Given the description of an element on the screen output the (x, y) to click on. 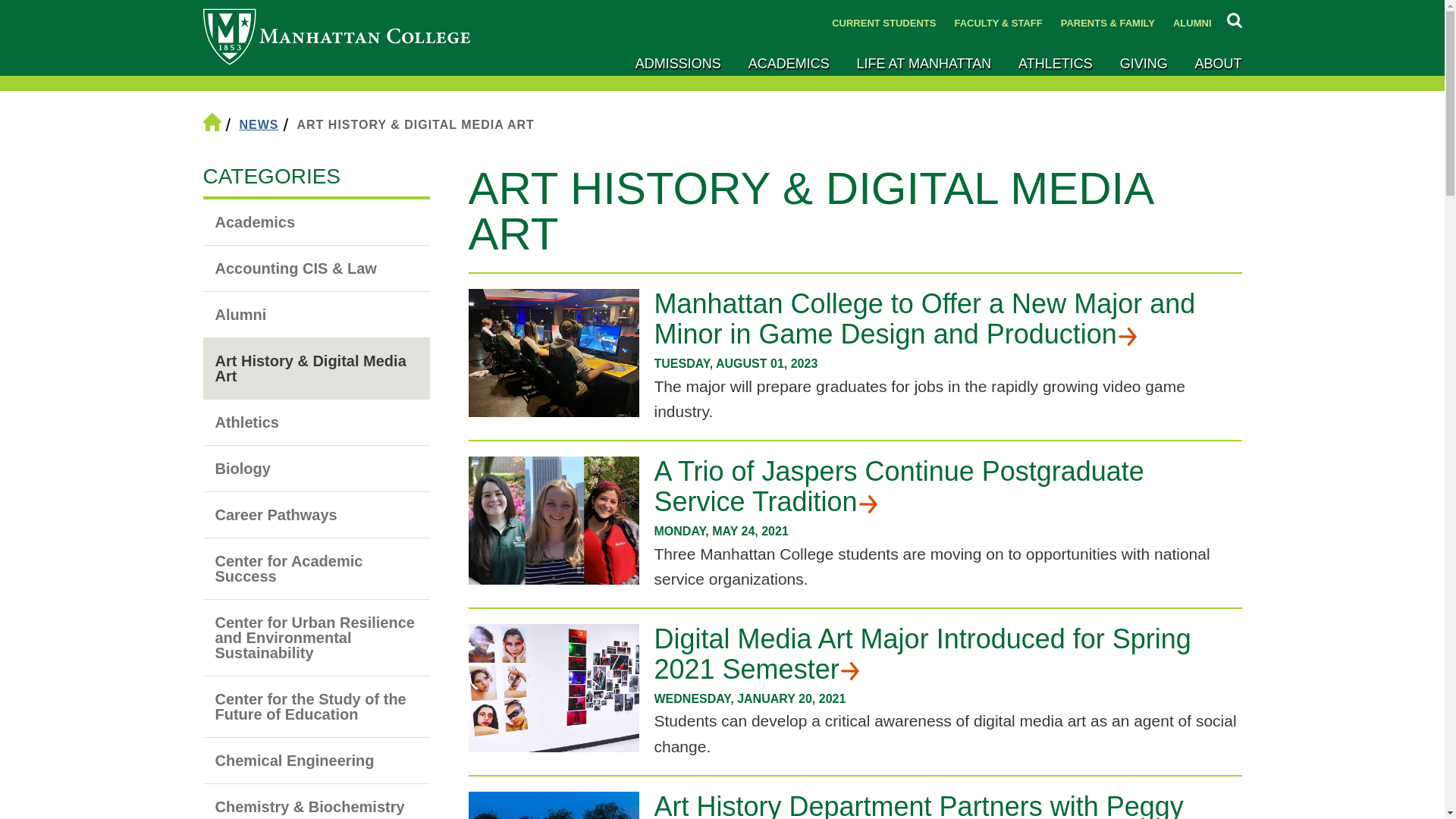
ACADEMICS (788, 63)
Monday, May 24, 2021 (947, 531)
Search Inside Manhattan (1234, 17)
News (259, 124)
Wednesday, January 20, 2021 (947, 699)
Tuesday, August 01, 2023 (947, 363)
ADMISSIONS (677, 63)
CURRENT STUDENTS (883, 22)
ALUMNI (1187, 22)
Manhattan College (336, 38)
Digital Media Art Major Introduced for Spring 2021 Semester (947, 654)
A Trio of Jaspers Continue Postgraduate Service Tradition (947, 486)
